Given the description of an element on the screen output the (x, y) to click on. 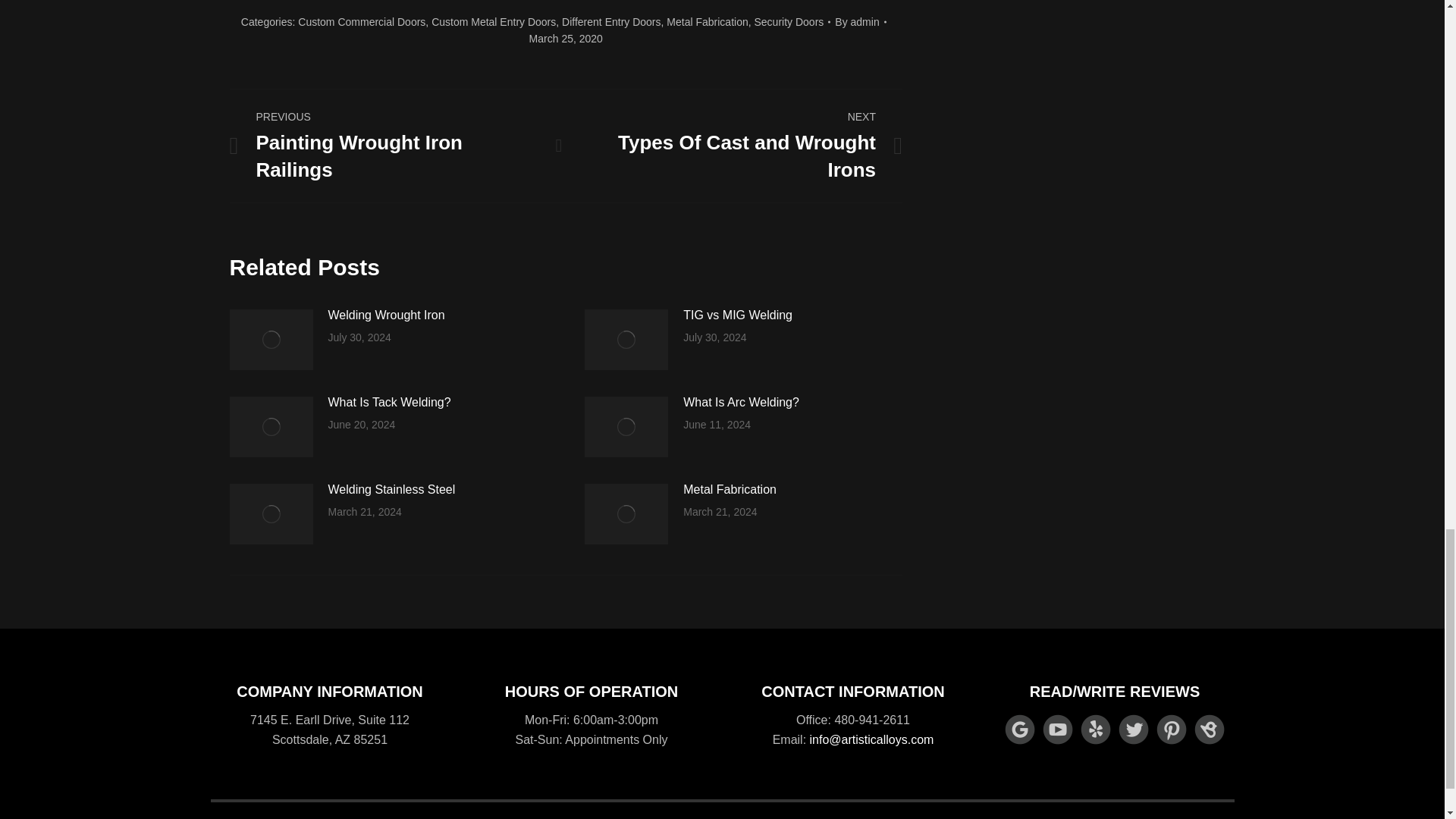
View all posts by admin (859, 21)
2:55 pm (565, 38)
